Given the description of an element on the screen output the (x, y) to click on. 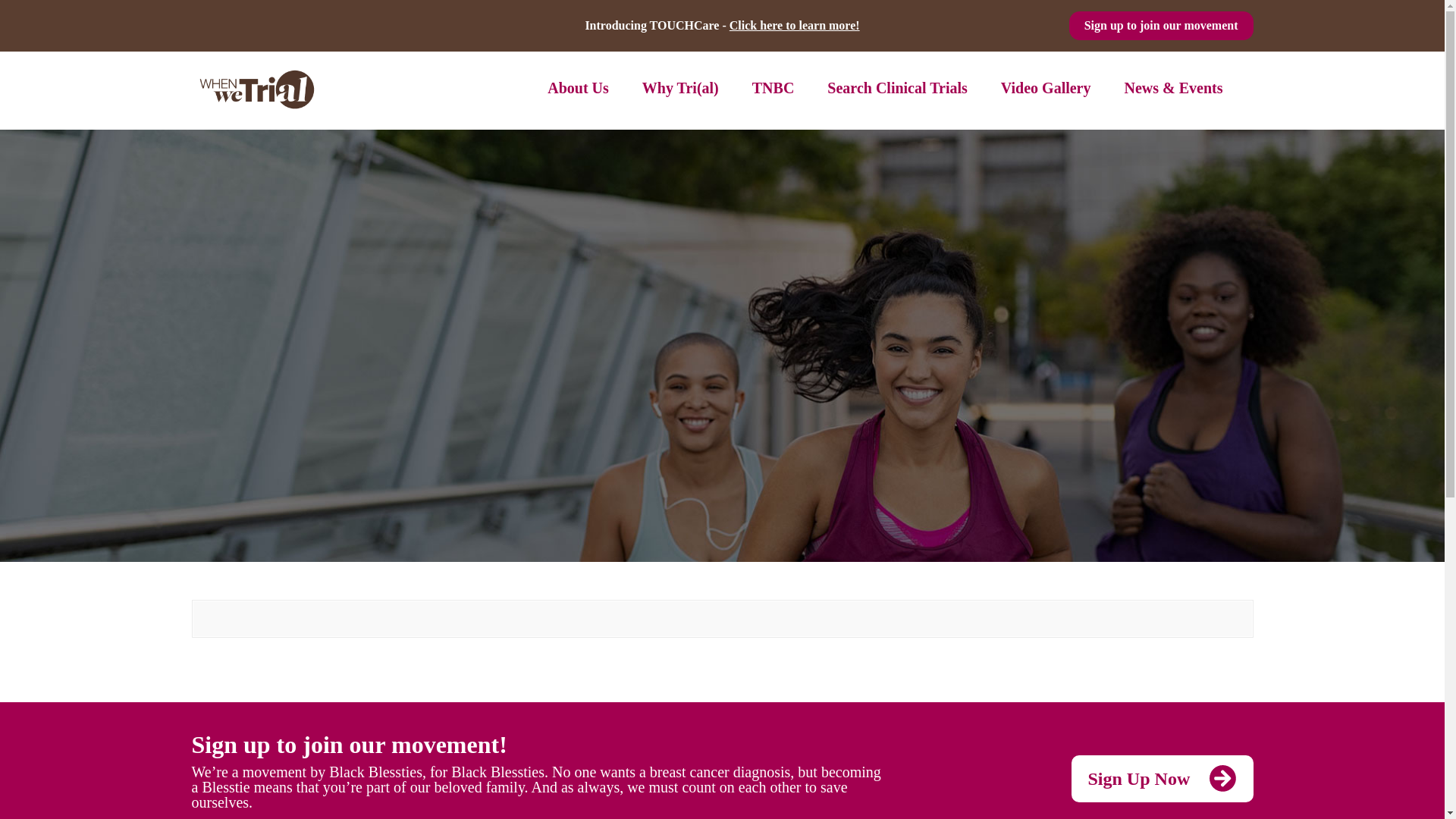
About Us (577, 87)
Sign Up Now (1161, 778)
Click here to learn more! (794, 24)
Video Gallery (1045, 87)
Sign up to join our movement (1160, 25)
TNBC (773, 87)
Search Clinical Trials (896, 87)
